Given the description of an element on the screen output the (x, y) to click on. 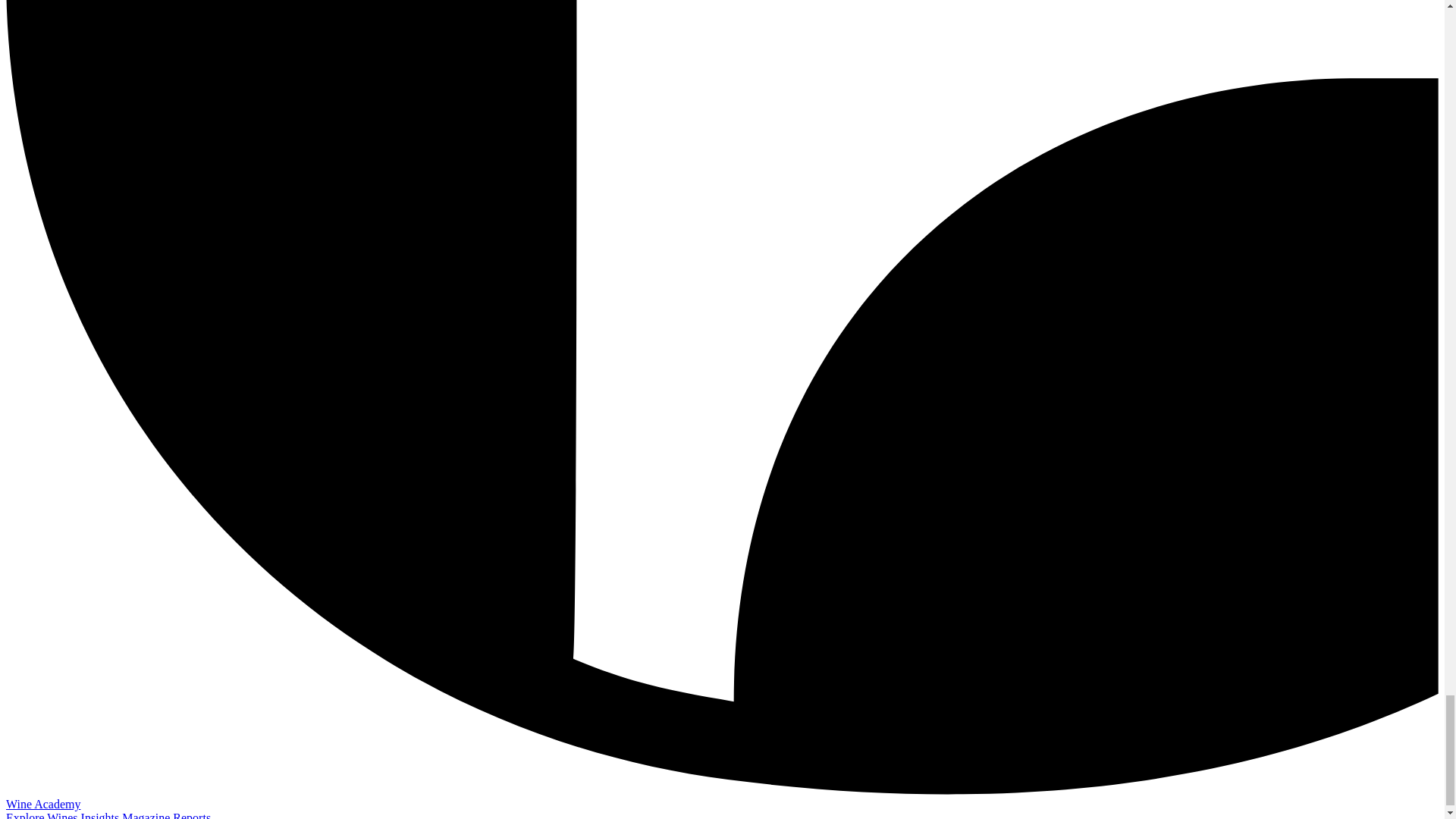
Wine Academy (42, 803)
